Given the description of an element on the screen output the (x, y) to click on. 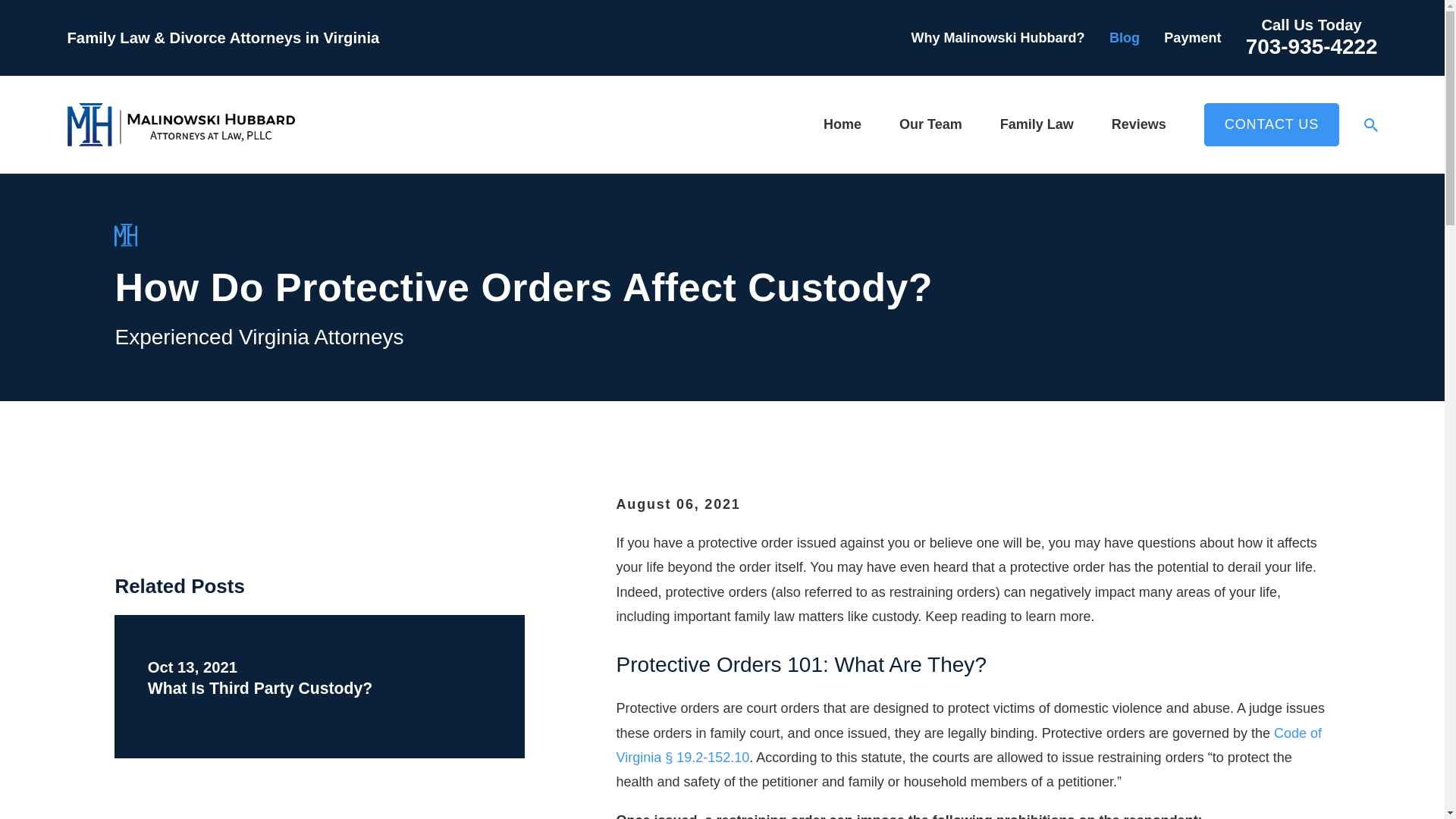
Home (180, 124)
Family Law (1037, 123)
Payment (1192, 37)
Why Malinowski Hubbard? (997, 37)
703-935-4222 (1311, 46)
Reviews (1139, 123)
Blog (1124, 37)
Our Team (930, 123)
